Given the description of an element on the screen output the (x, y) to click on. 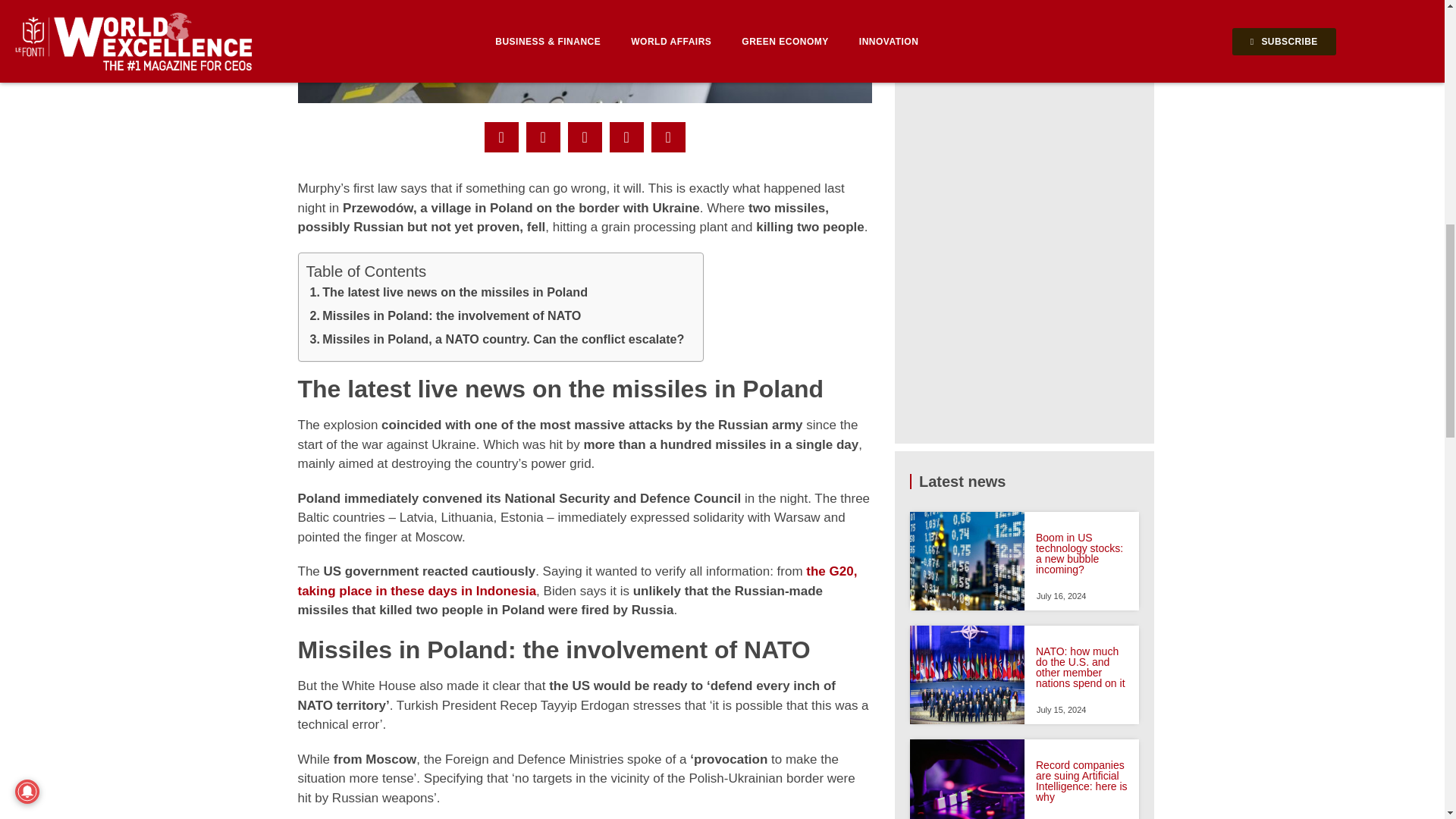
The latest live news on the missiles in Poland (448, 294)
Missiles in Poland: the involvement of NATO (445, 318)
the G20, taking place in these days in Indonesia (577, 581)
The latest live news on the missiles in Poland (448, 294)
Missiles in Poland: the involvement of NATO  (445, 318)
